Given the description of an element on the screen output the (x, y) to click on. 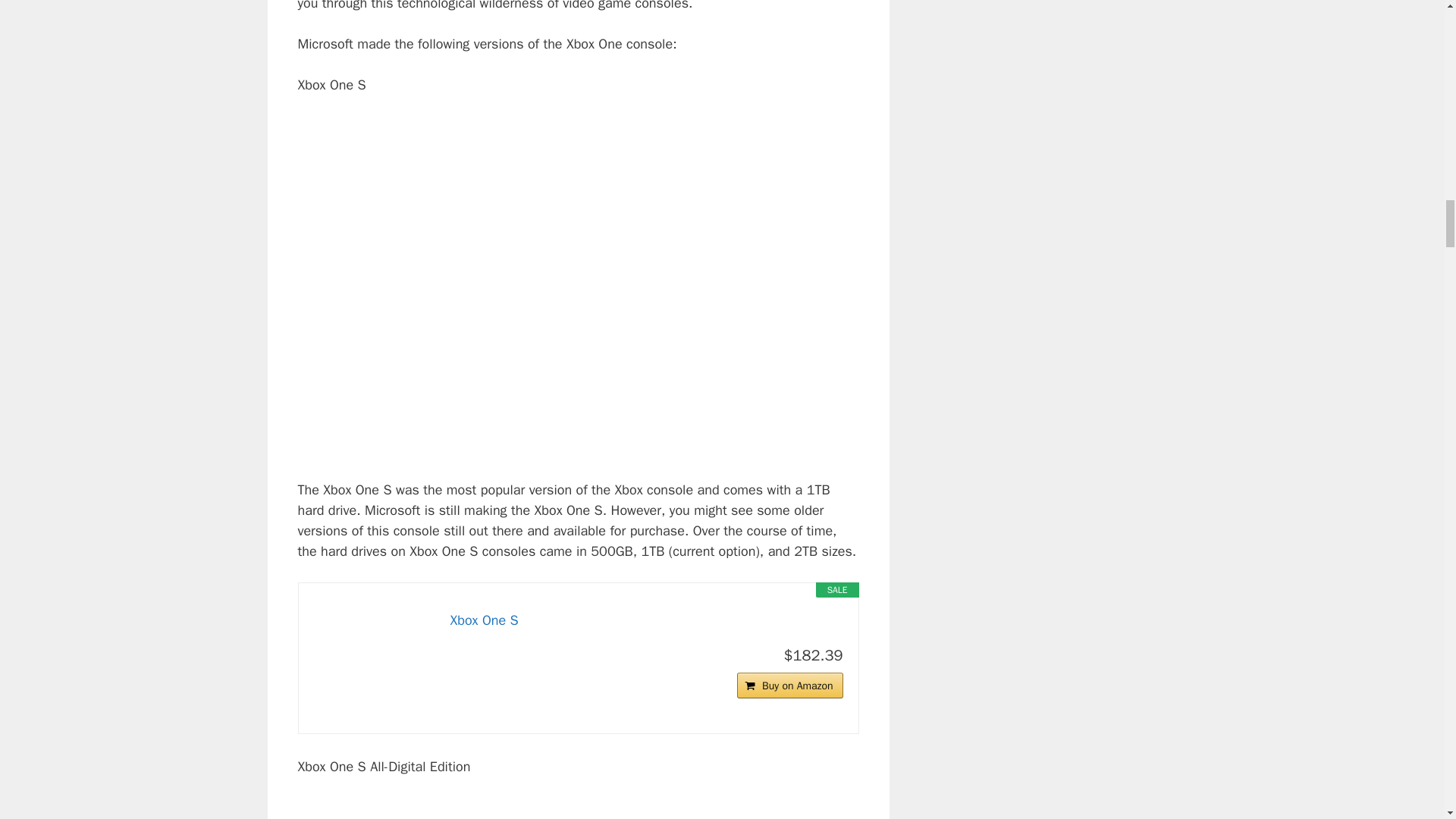
Xbox One S (646, 620)
Buy on Amazon (789, 685)
Xbox One S (577, 267)
Xbox One S (374, 657)
